Given the description of an element on the screen output the (x, y) to click on. 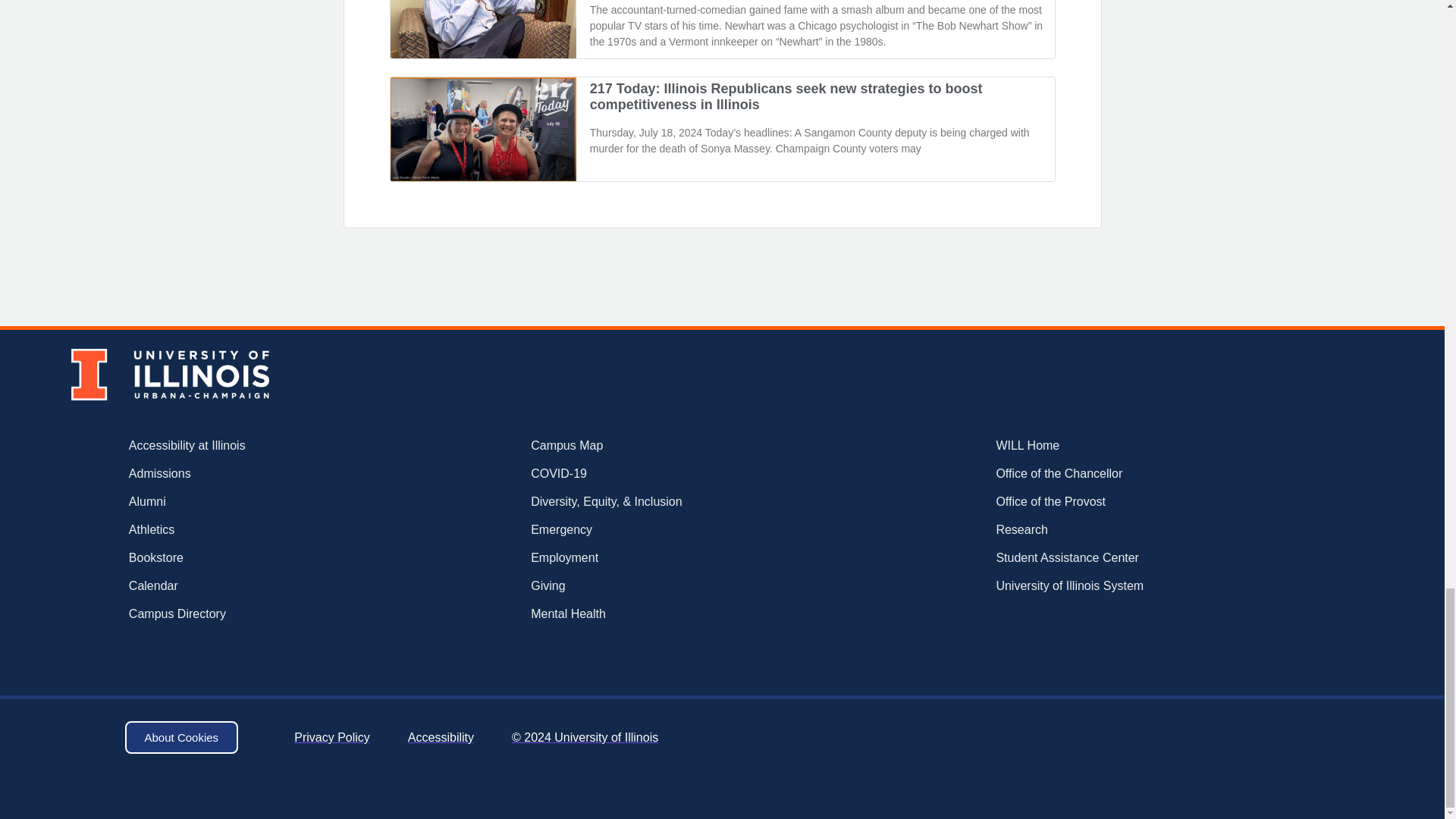
Athletics (235, 529)
Admissions (235, 474)
Accessibility at Illinois (235, 445)
Bookstore (235, 557)
Alumni (235, 502)
